Given the description of an element on the screen output the (x, y) to click on. 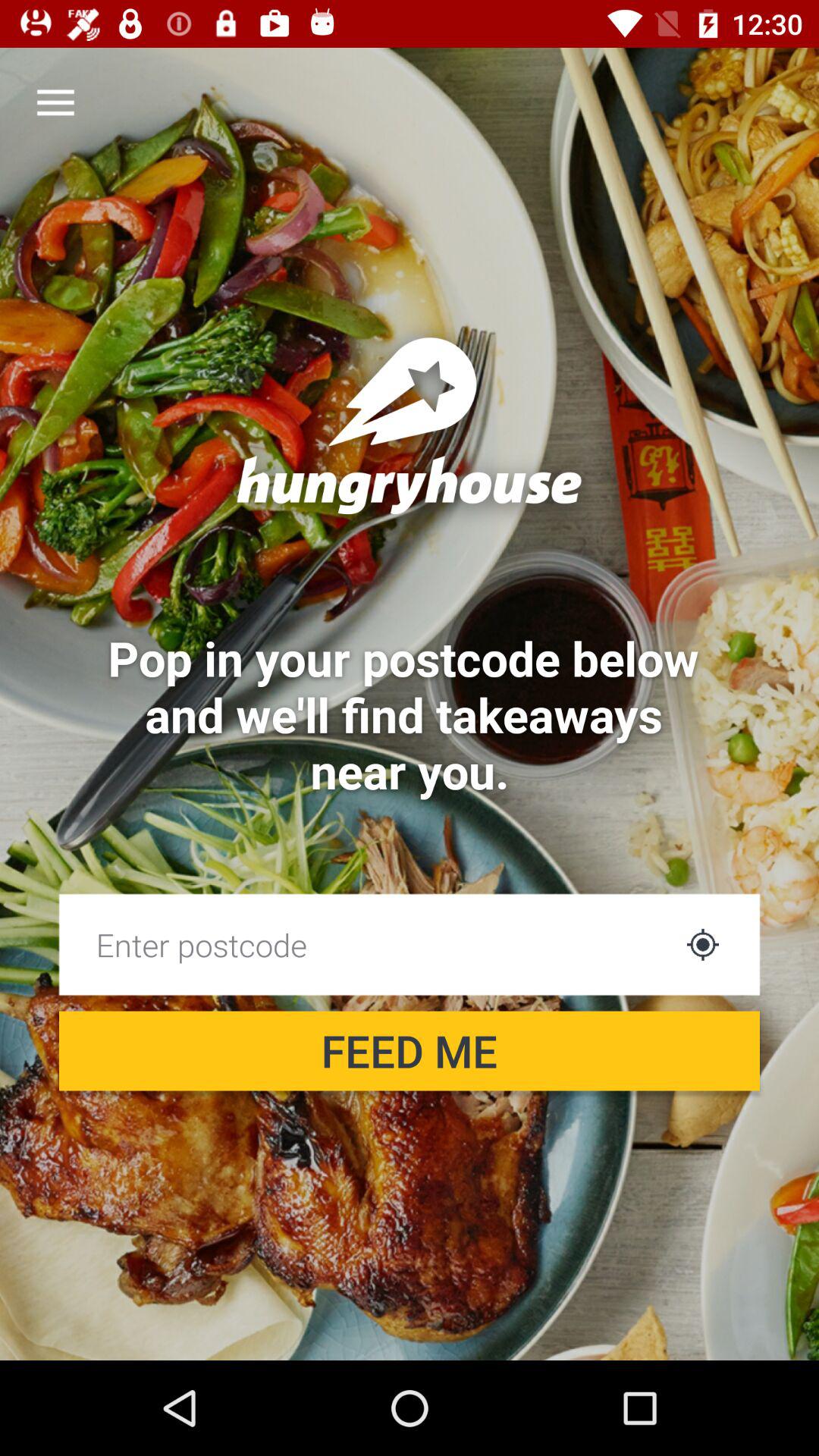
use location (702, 944)
